Given the description of an element on the screen output the (x, y) to click on. 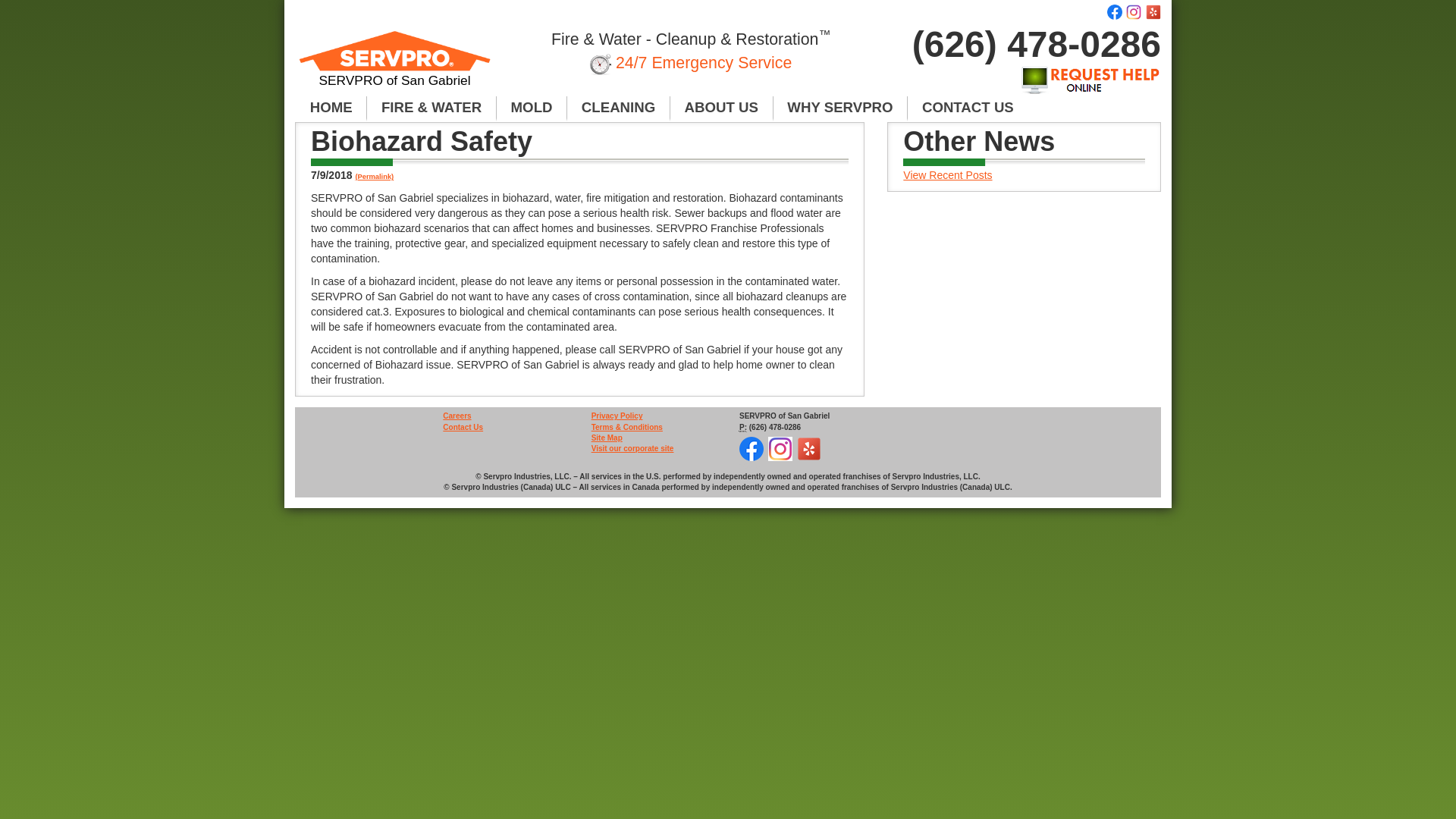
MOLD (531, 108)
CLEANING (618, 108)
HOME (330, 108)
ABOUT US (721, 108)
SERVPRO of San Gabriel (395, 65)
Phone (742, 427)
